Given the description of an element on the screen output the (x, y) to click on. 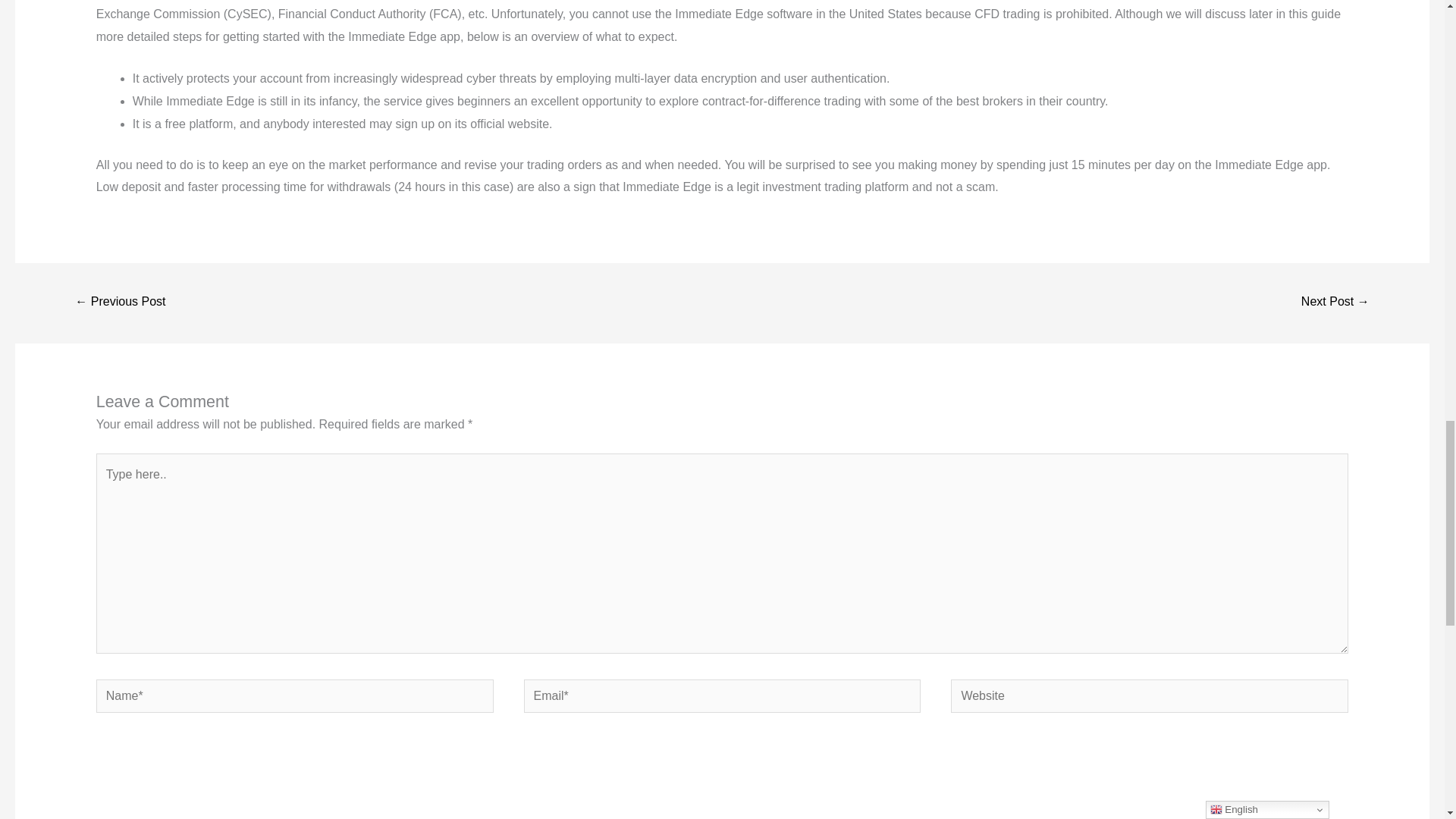
Immediate Edge Review 2023: Is It Legit Or A Scam? (1334, 302)
Immediate Edge Review More Like An Immediate Loss! (119, 302)
